Given the description of an element on the screen output the (x, y) to click on. 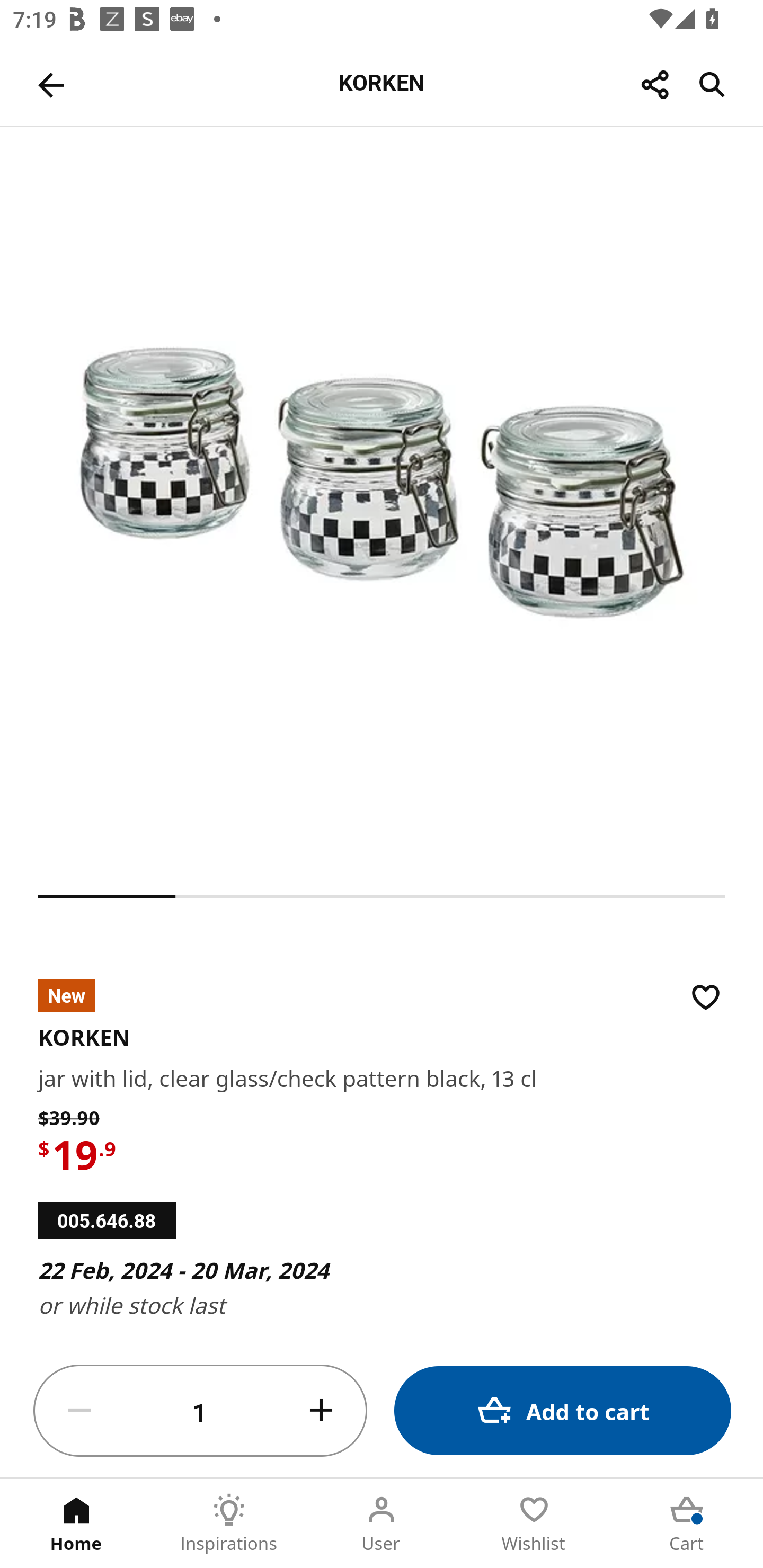
Add to cart (562, 1410)
1 (200, 1411)
Home
Tab 1 of 5 (76, 1522)
Inspirations
Tab 2 of 5 (228, 1522)
User
Tab 3 of 5 (381, 1522)
Wishlist
Tab 4 of 5 (533, 1522)
Cart
Tab 5 of 5 (686, 1522)
